Given the description of an element on the screen output the (x, y) to click on. 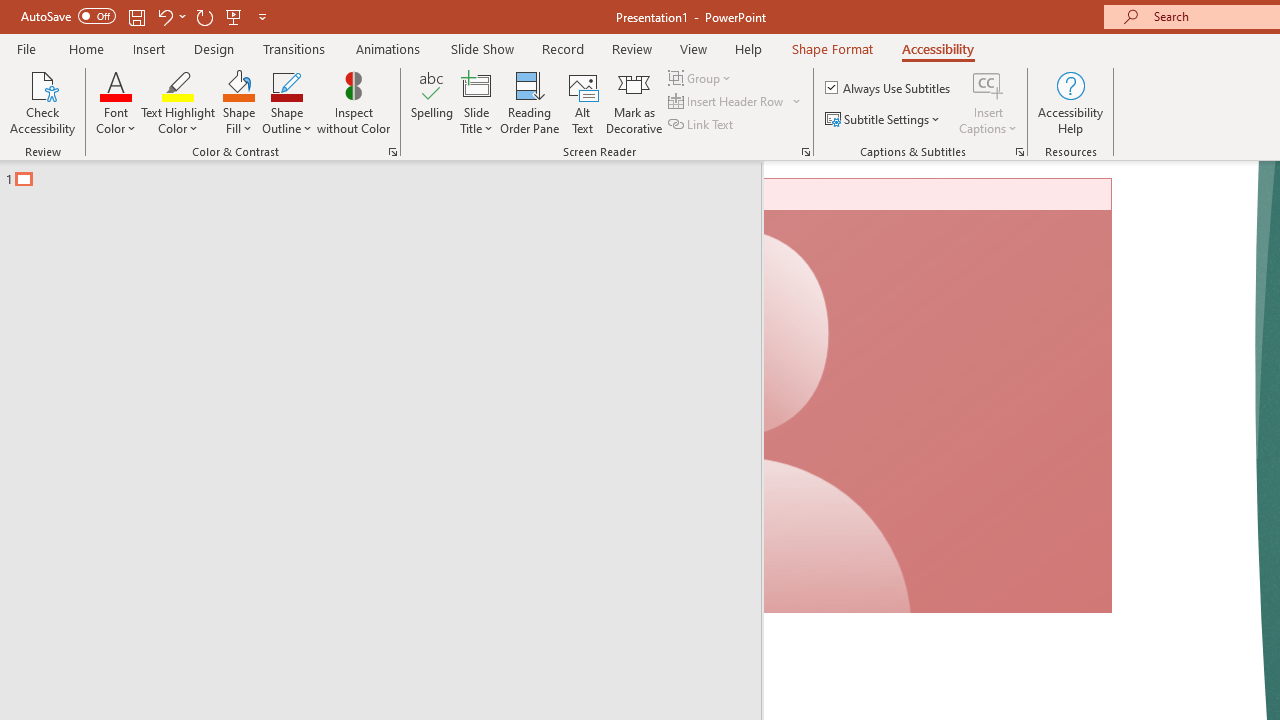
Phonetic Guide... (618, 137)
Text Effects and Typography (444, 180)
More Options (1073, 180)
Copy (112, 161)
Increase Indent (944, 137)
Font (242, 137)
Repeat Typing (341, 31)
Font Size (362, 137)
Bullets (716, 137)
Change Case (524, 137)
Font Color (567, 180)
Shading (993, 180)
Underline (261, 180)
Design (495, 84)
Character Shading (618, 180)
